Given the description of an element on the screen output the (x, y) to click on. 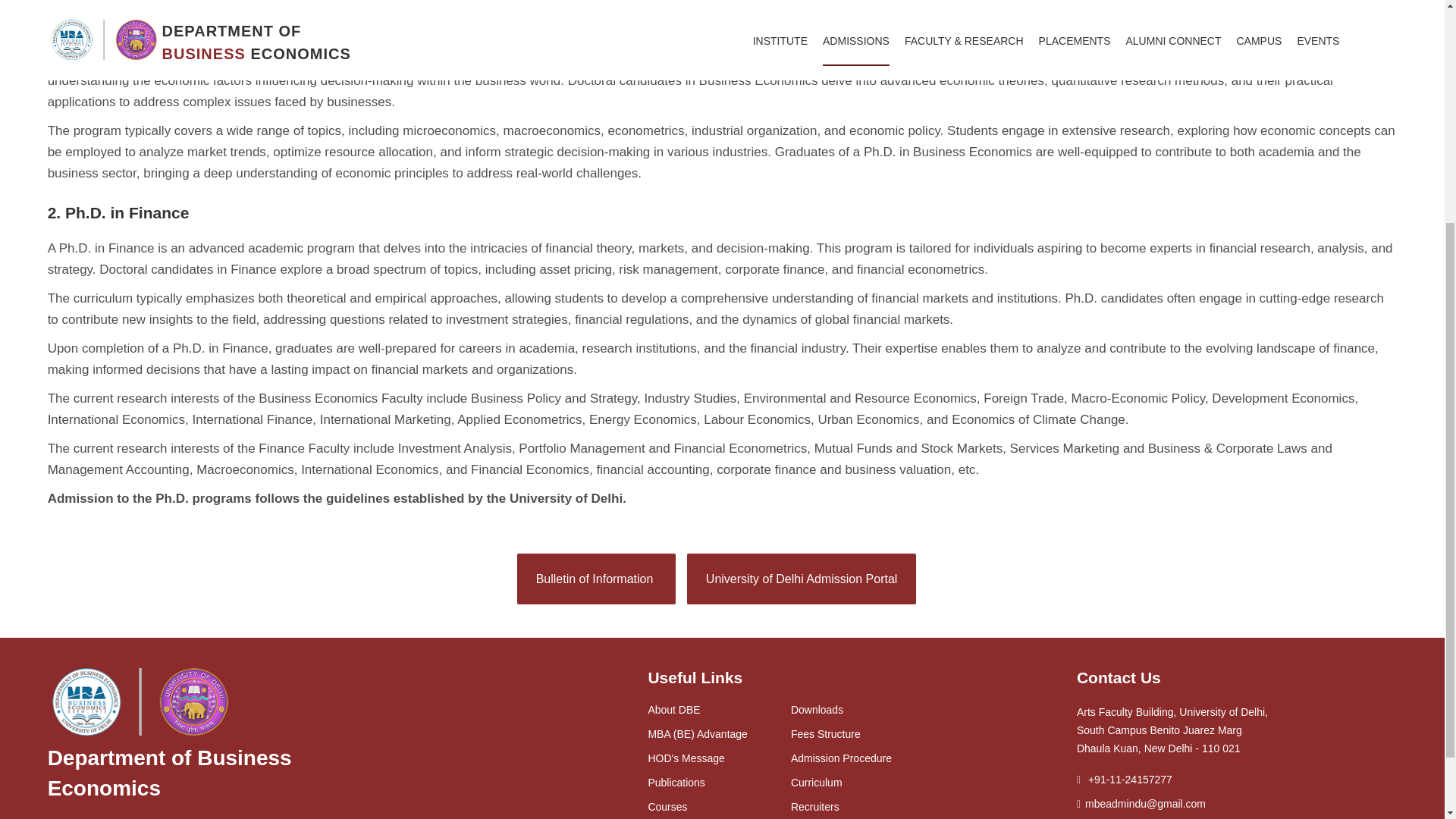
University of Delhi Admission Portal (802, 578)
Bulletin of Information (595, 578)
